Given the description of an element on the screen output the (x, y) to click on. 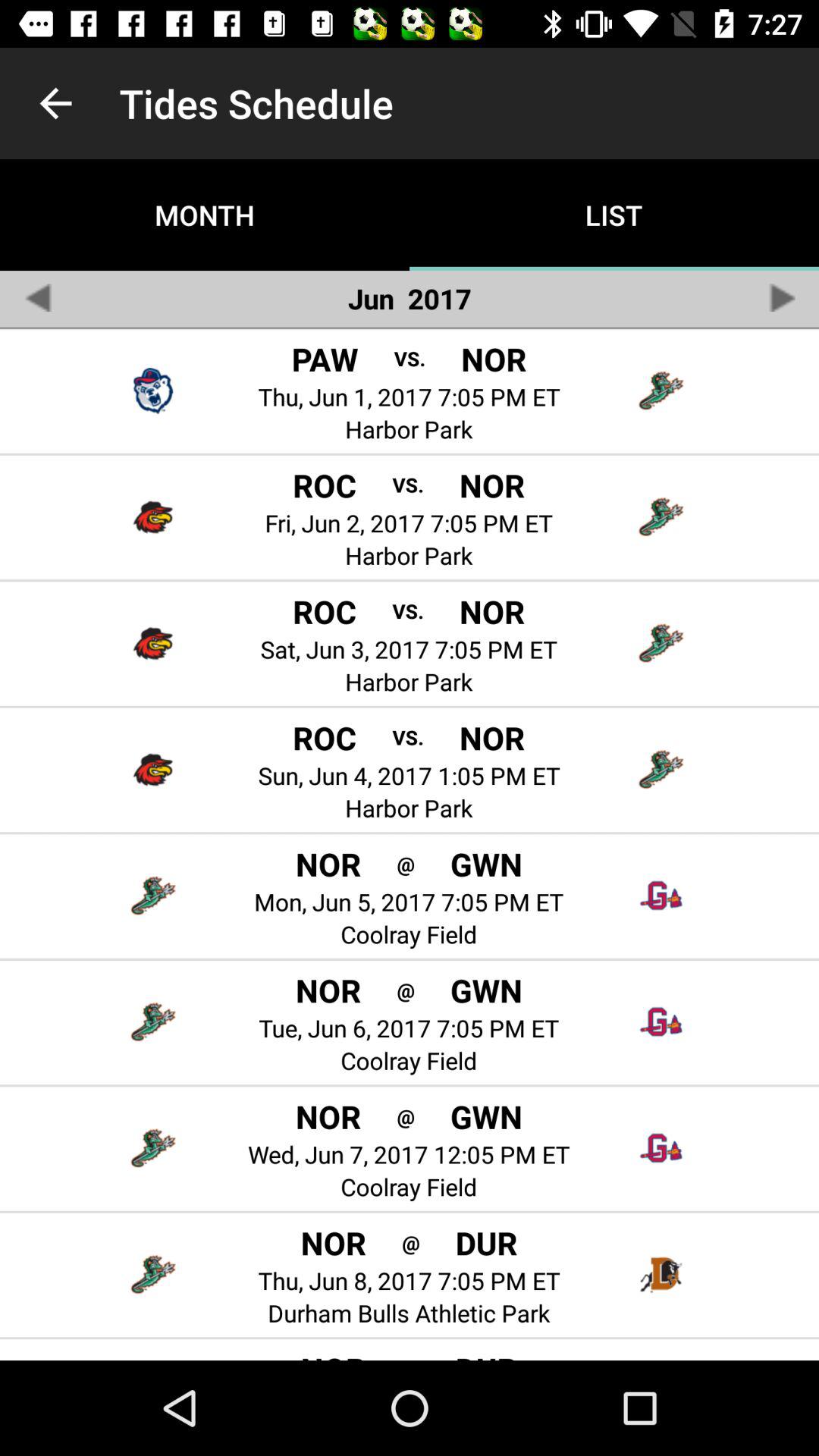
click icon next to the tides schedule (55, 103)
